Given the description of an element on the screen output the (x, y) to click on. 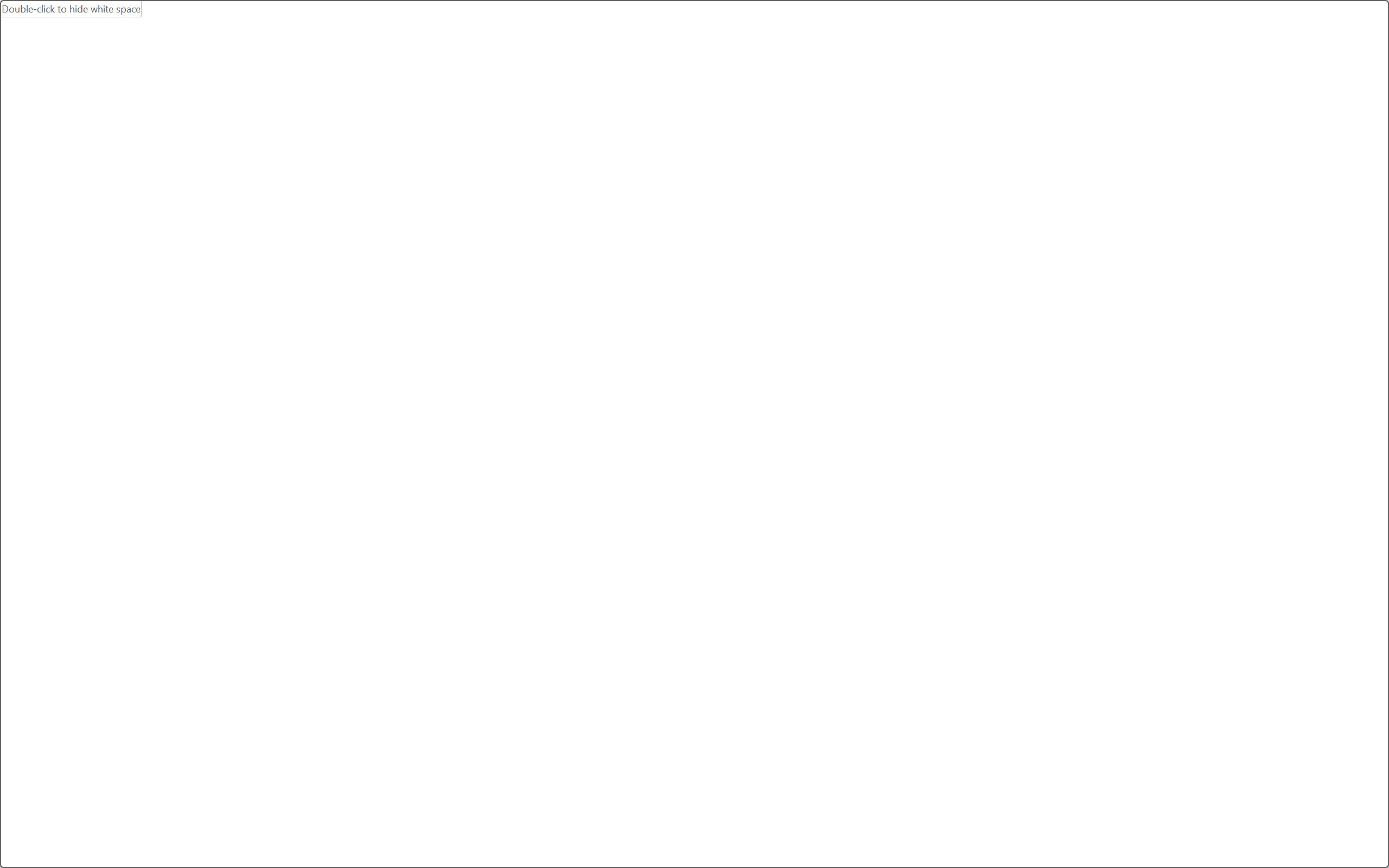
Distributed (473, 108)
Align Right (431, 108)
Align Left (388, 108)
Center (409, 108)
Help (549, 51)
deserts (584, 513)
